Given the description of an element on the screen output the (x, y) to click on. 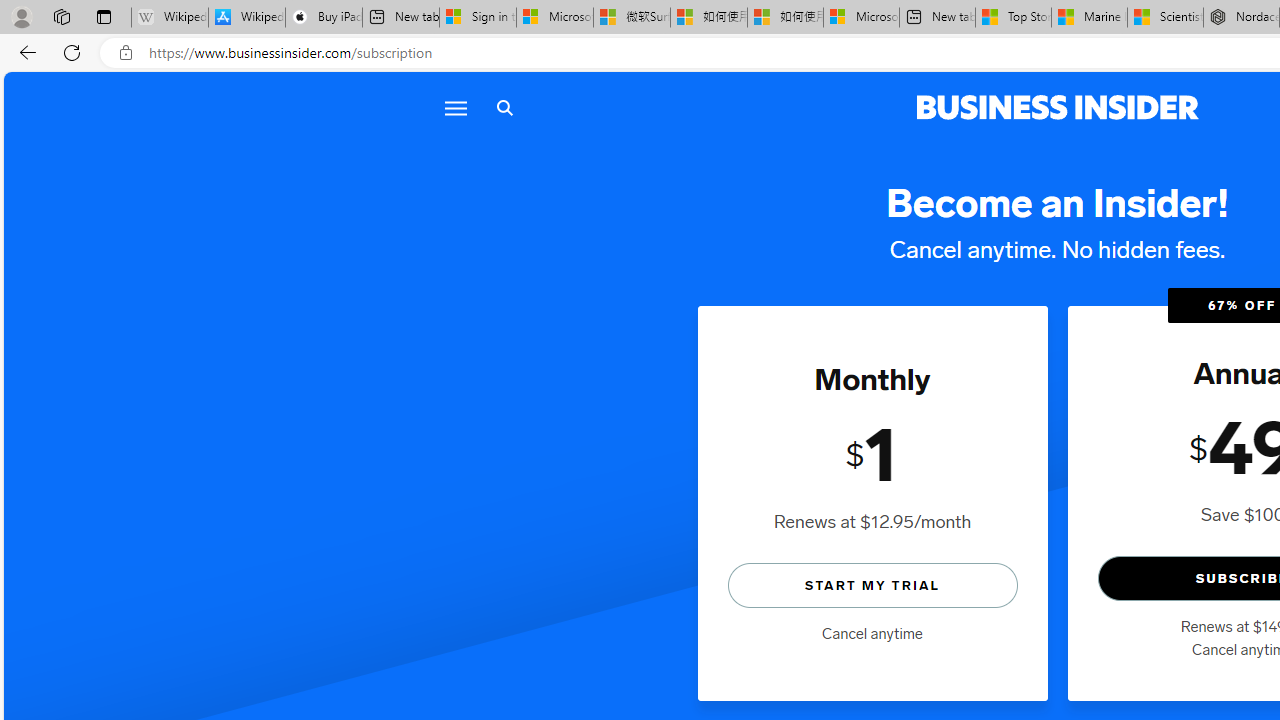
Business Insider logo (1057, 107)
Search icon (504, 107)
Menu icon (455, 107)
Cancel anytime (872, 633)
Go to the search page. (504, 107)
Menu (454, 107)
